Given the description of an element on the screen output the (x, y) to click on. 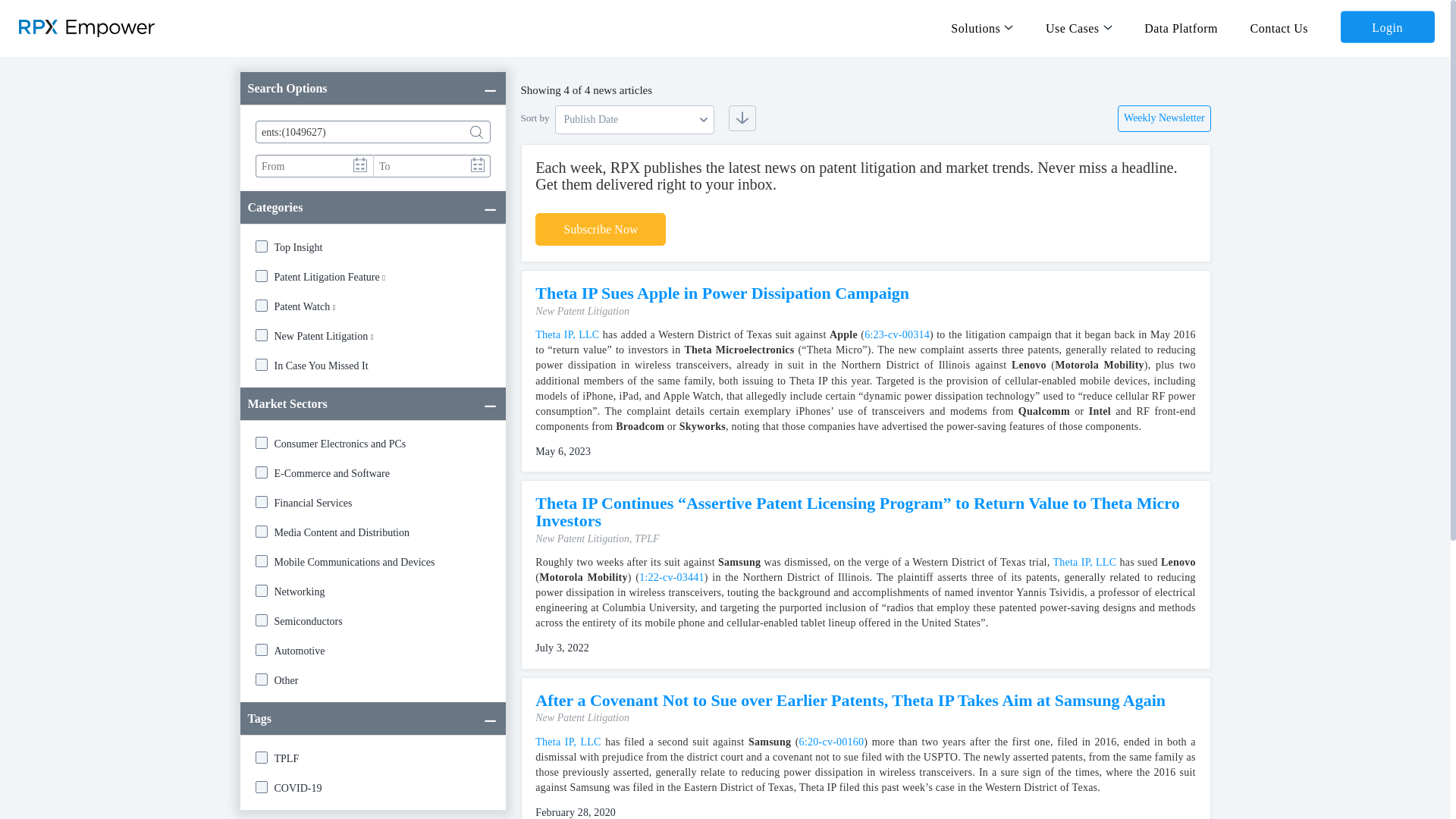
Theta IP Sues Apple in Power Dissipation Campaign (721, 292)
Theta IP, LLC (566, 334)
Contact Us (1279, 27)
6:23-cv-00314 (897, 334)
1:22-cv-03441 (671, 577)
Data Platform (1180, 27)
Theta IP, LLC (567, 741)
Theta IP, LLC (1084, 562)
Login (1387, 27)
